Given the description of an element on the screen output the (x, y) to click on. 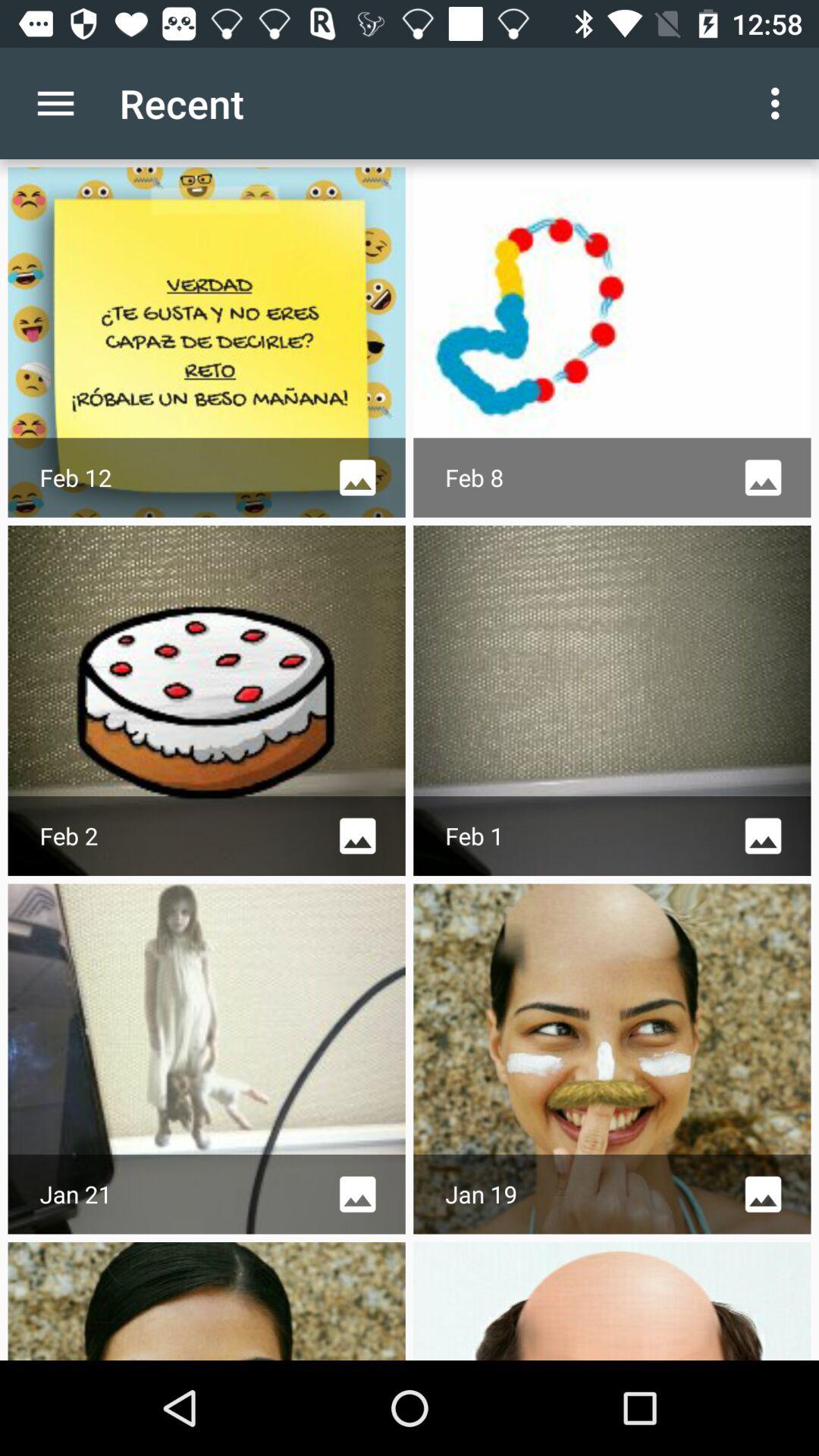
choose the icon next to the recent (55, 103)
